Given the description of an element on the screen output the (x, y) to click on. 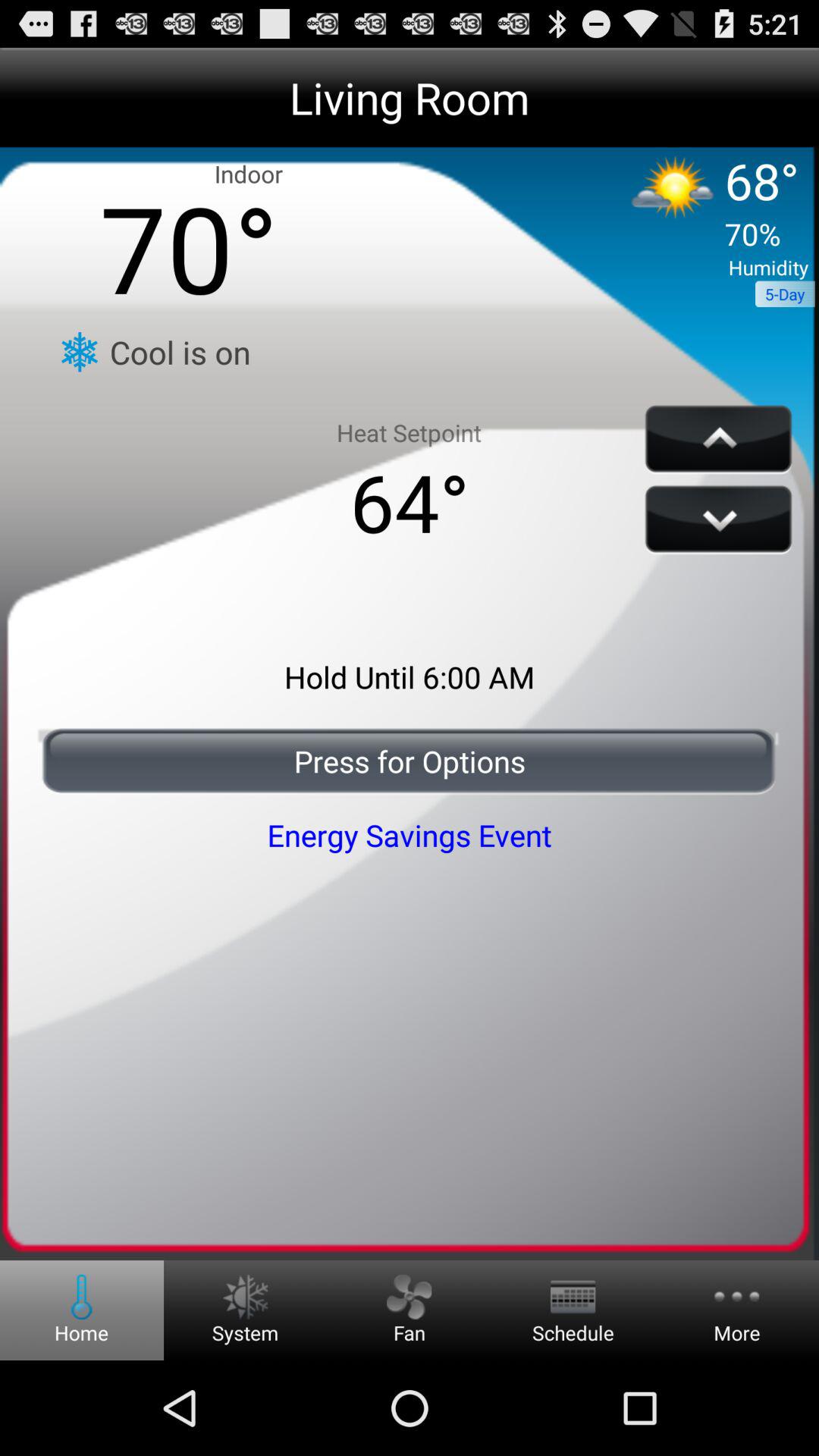
turn off the icon below the press for options icon (409, 835)
